Given the description of an element on the screen output the (x, y) to click on. 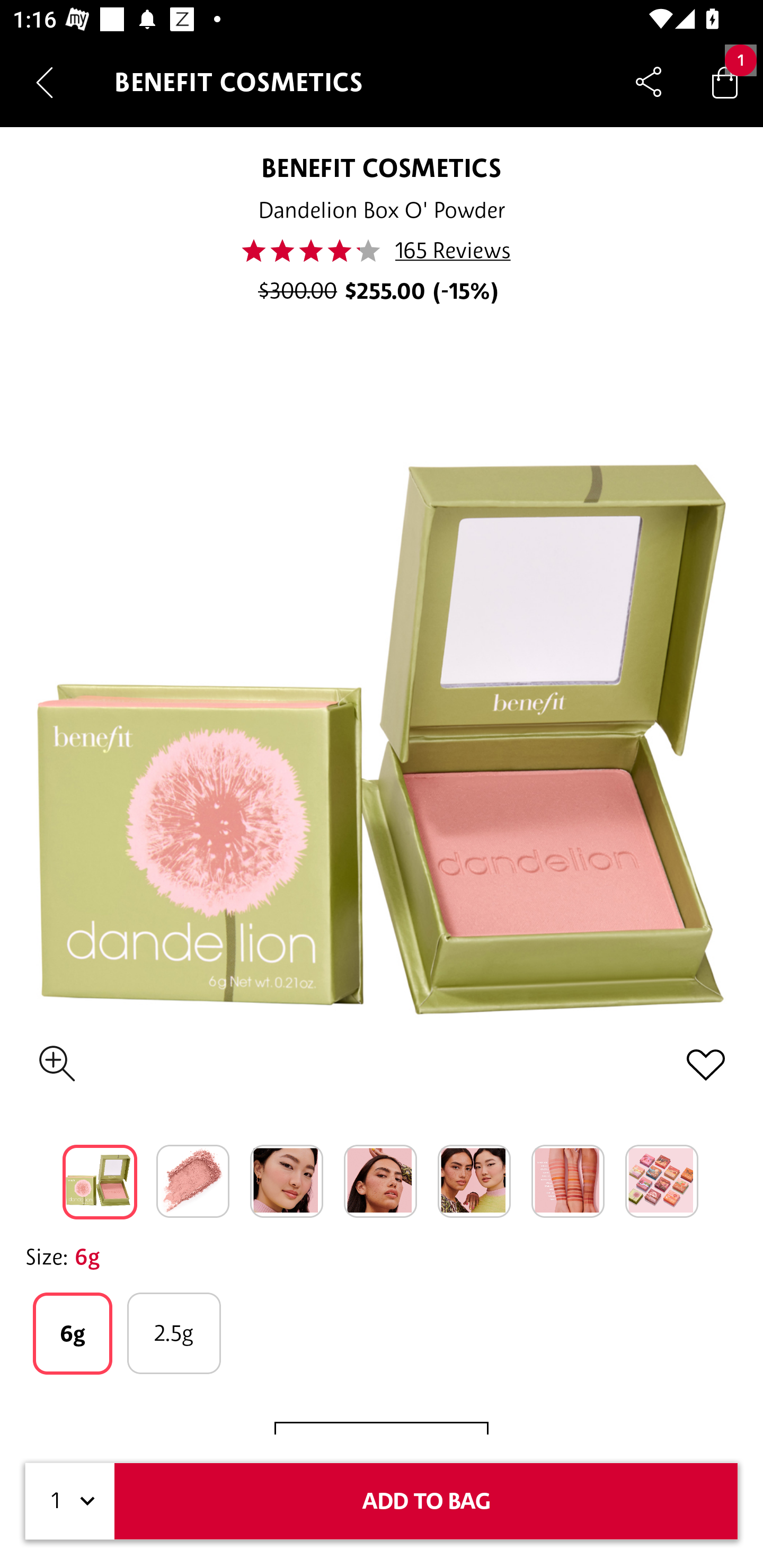
Navigate up (44, 82)
Share (648, 81)
Bag (724, 81)
BENEFIT COSMETICS (381, 167)
42.0 165 Reviews (381, 250)
6g (72, 1333)
2.5g (174, 1332)
1 (69, 1500)
ADD TO BAG (425, 1500)
